Given the description of an element on the screen output the (x, y) to click on. 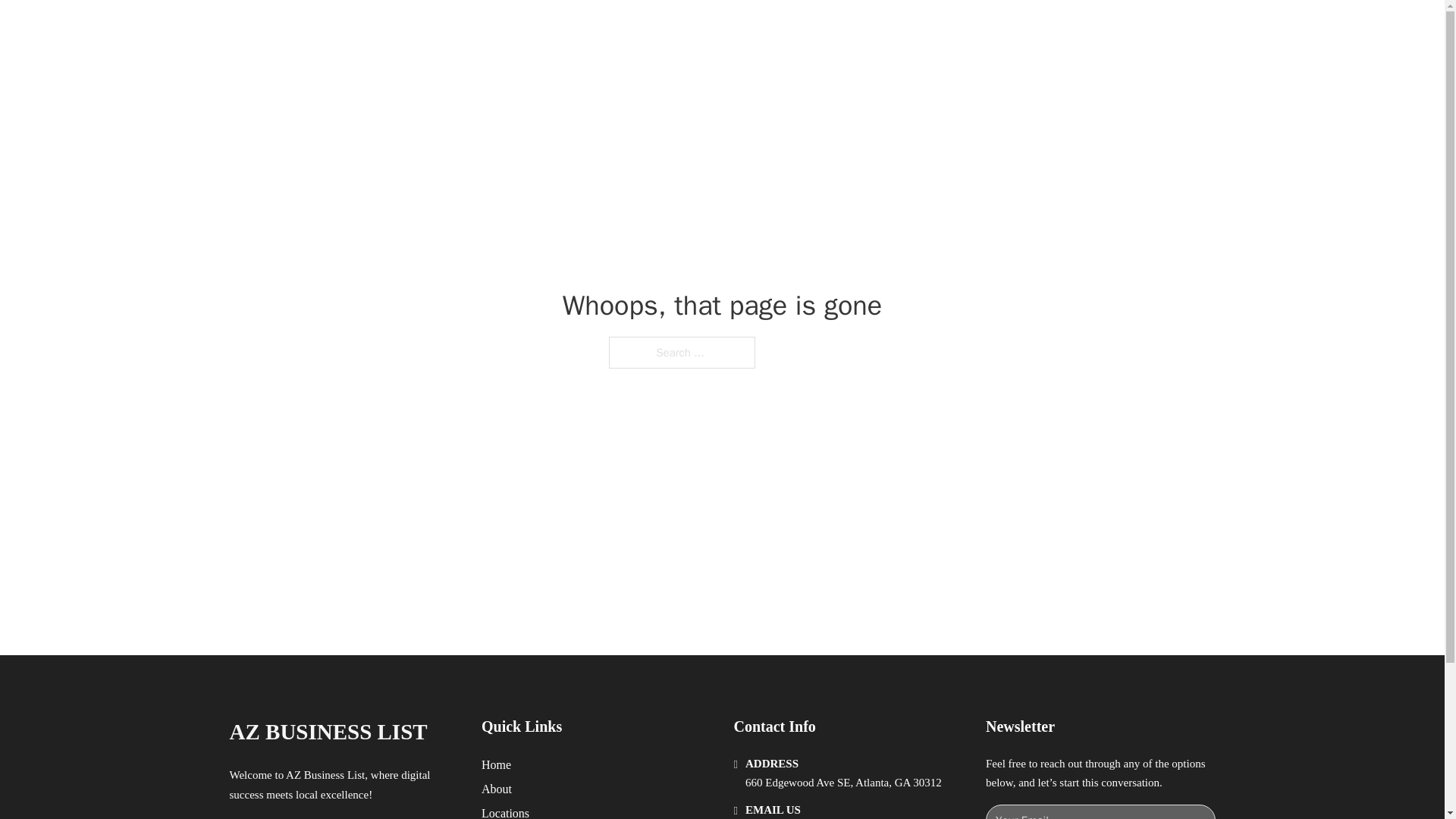
AZ BUSINESS LIST (403, 28)
Home (496, 764)
Locations (505, 811)
LOCATIONS (990, 29)
HOME (919, 29)
About (496, 788)
AZ BUSINESS LIST (327, 732)
